Given the description of an element on the screen output the (x, y) to click on. 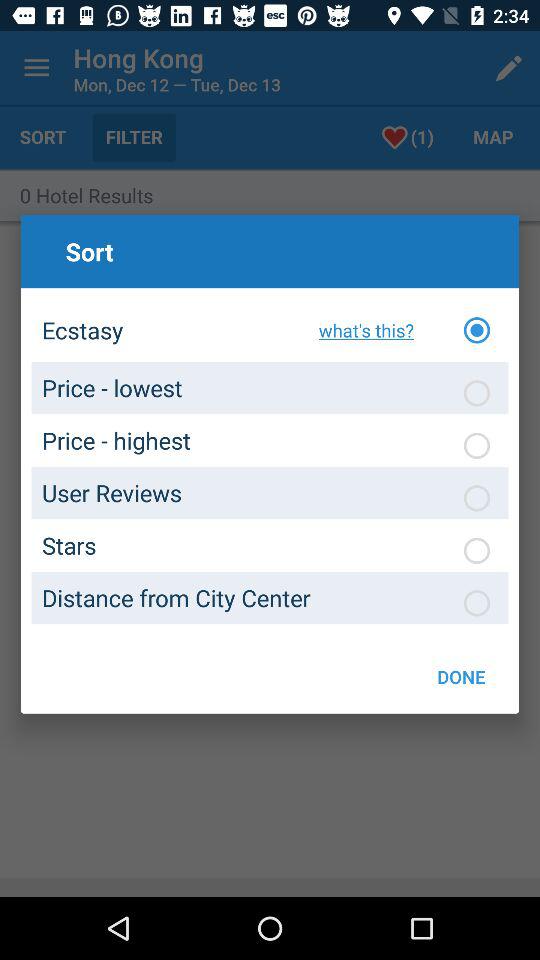
sort by number of stars (477, 550)
